Given the description of an element on the screen output the (x, y) to click on. 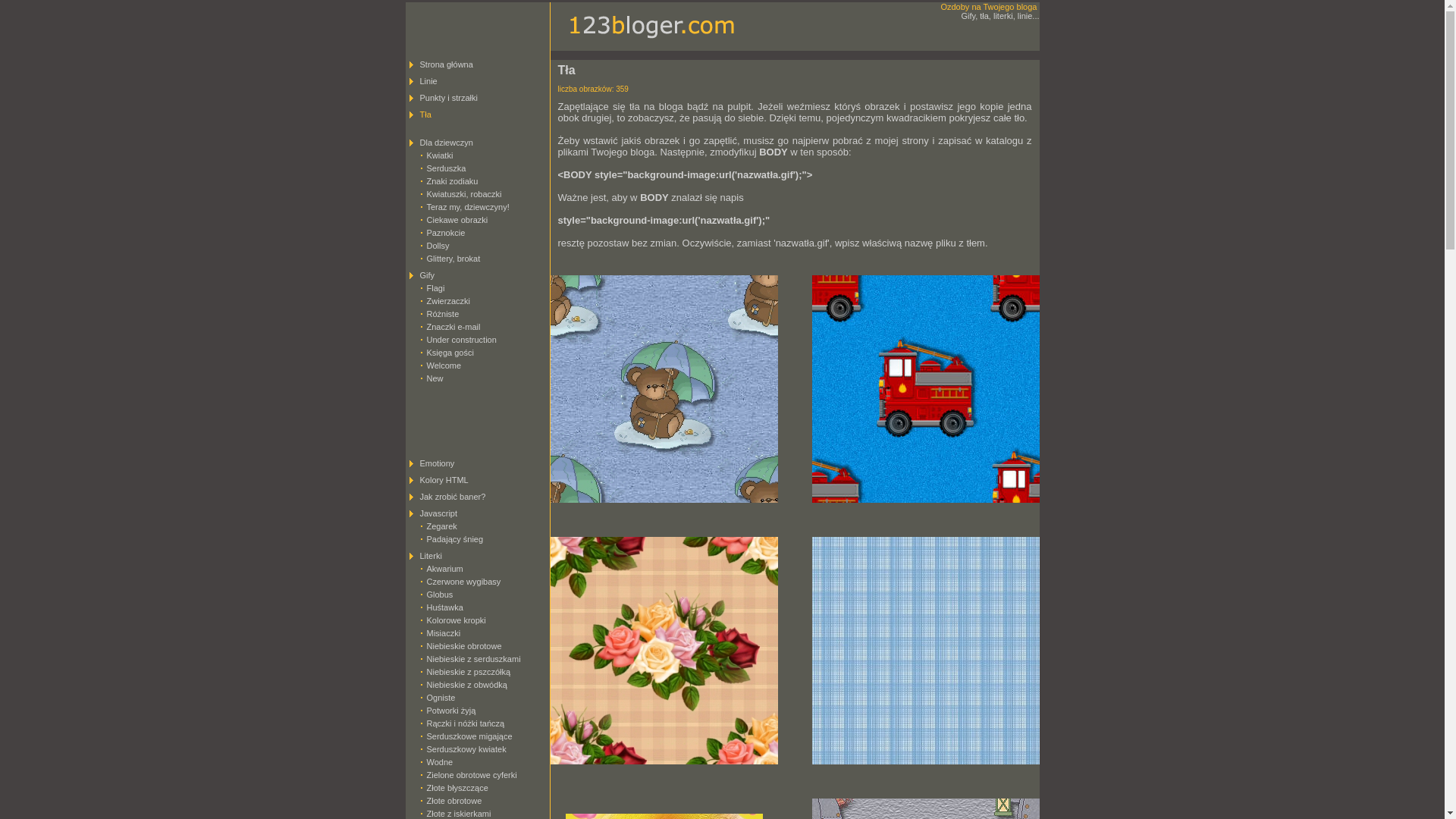
Misiaczki Element type: text (443, 632)
Niebieskie obrotowe Element type: text (463, 645)
Ciekawe obrazki Element type: text (456, 219)
Kolory HTML Element type: text (444, 479)
Zegarek Element type: text (441, 525)
Niebieskie z serduszkami Element type: text (473, 658)
Flagi Element type: text (435, 287)
Akwarium Element type: text (444, 568)
Welcome Element type: text (443, 365)
Gify Element type: text (427, 274)
Wodne Element type: text (439, 761)
Kwiatuszki, robaczki Element type: text (463, 193)
New Element type: text (434, 377)
Zwierzaczki Element type: text (447, 300)
Kwiatki Element type: text (439, 155)
Ogniste Element type: text (440, 697)
Serduszka Element type: text (445, 167)
Dla dziewczyn Element type: text (446, 142)
Paznokcie Element type: text (445, 232)
Dollsy Element type: text (437, 245)
Globus Element type: text (439, 594)
Under construction Element type: text (460, 339)
Znaczki e-mail Element type: text (453, 326)
Emotiony Element type: text (437, 462)
Glittery, brokat Element type: text (453, 258)
Kolorowe kropki Element type: text (455, 619)
Advertisement Element type: hover (473, 416)
Javascript Element type: text (439, 512)
Teraz my, dziewczyny! Element type: text (467, 206)
Znaki zodiaku Element type: text (451, 180)
Literki Element type: text (431, 555)
Czerwone wygibasy Element type: text (463, 581)
Zielone obrotowe cyferki Element type: text (471, 774)
Linie Element type: text (428, 80)
Serduszkowy kwiatek Element type: text (465, 748)
